Given the description of an element on the screen output the (x, y) to click on. 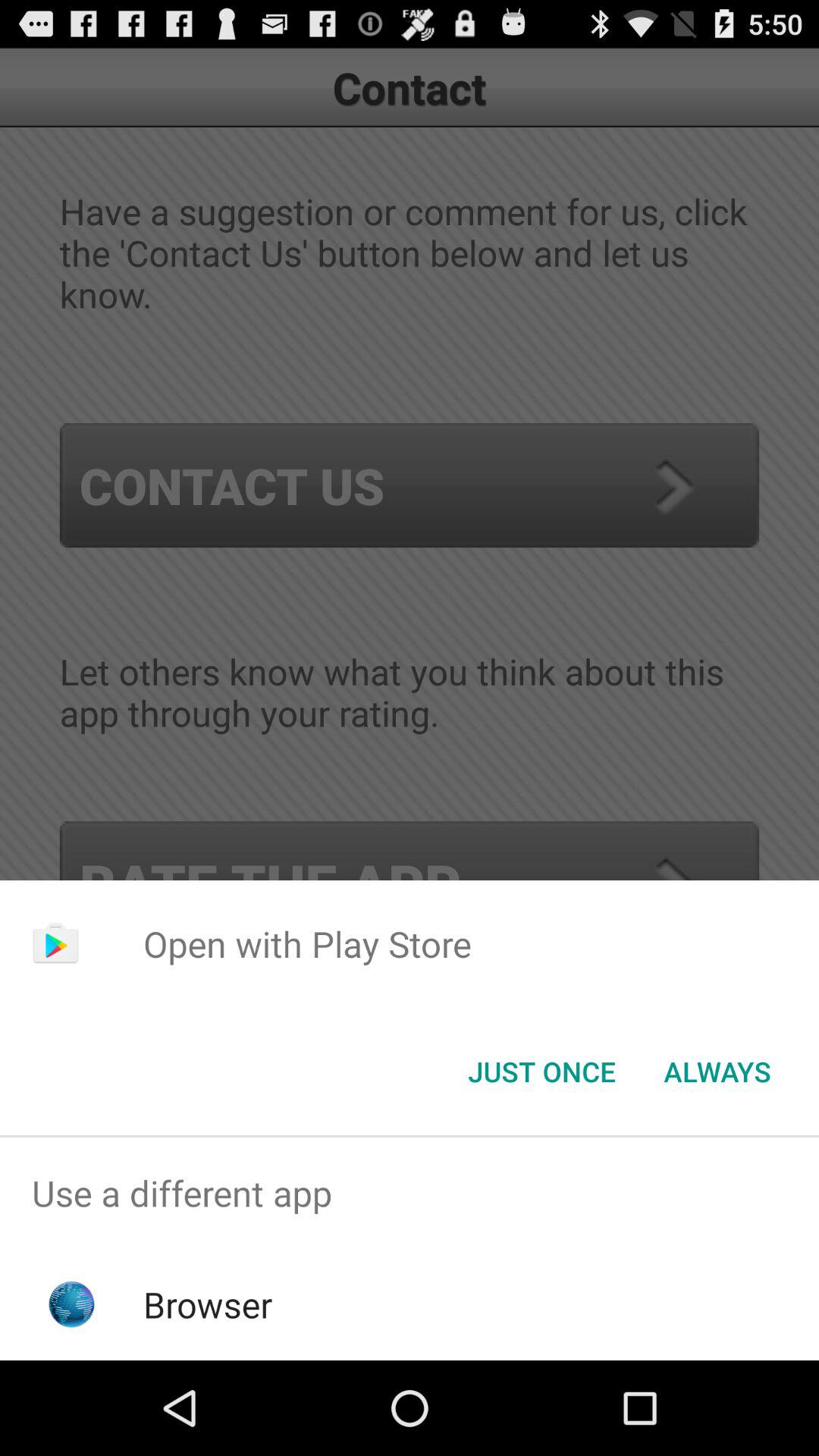
select the item below the use a different item (207, 1304)
